Given the description of an element on the screen output the (x, y) to click on. 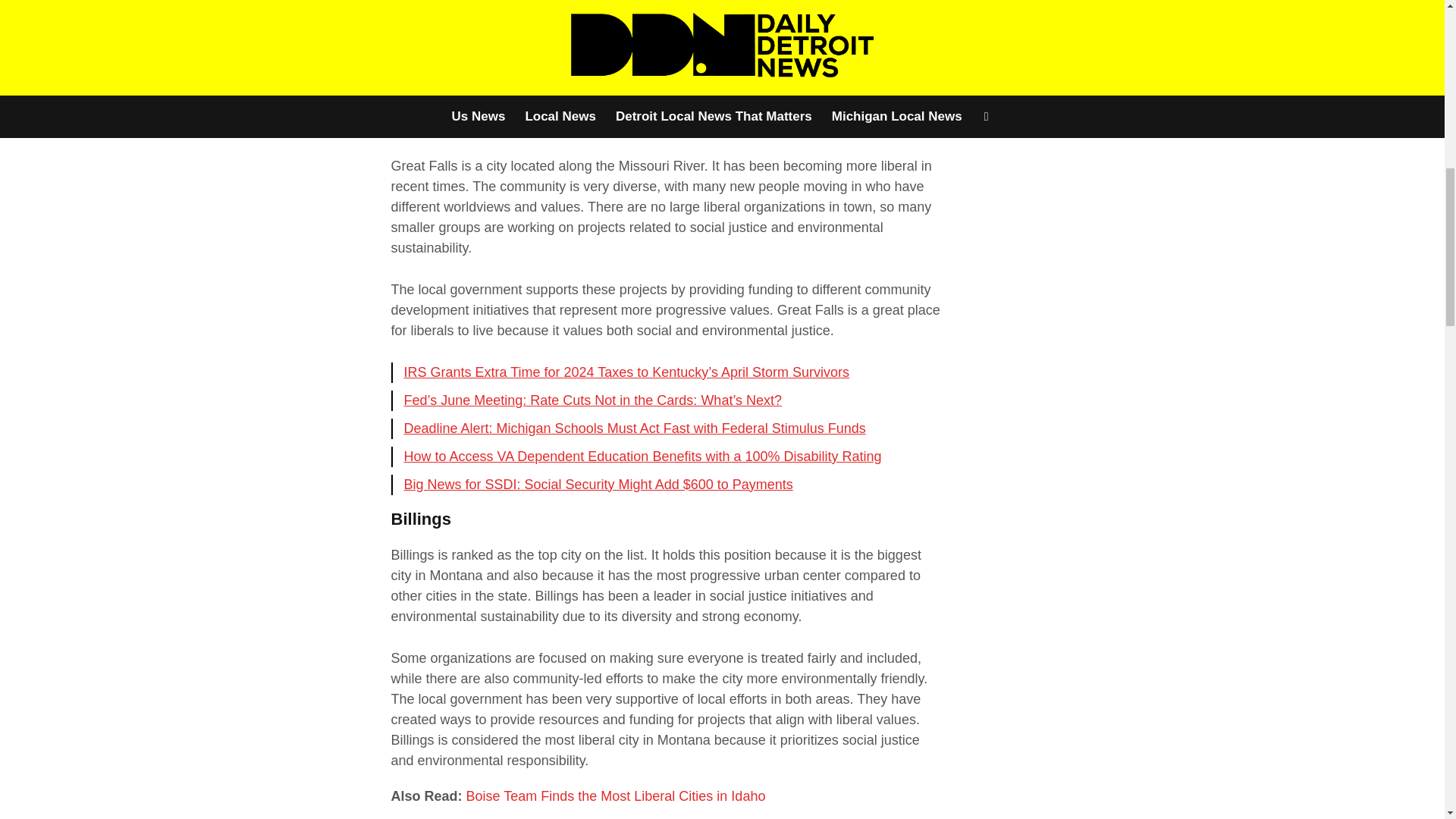
Twitter (271, 24)
Pinterest (341, 24)
Mix (306, 59)
Facebook (236, 24)
Reddit (271, 59)
Boise Team Finds the Most Liberal Cities in Idaho (615, 795)
Tumblr (341, 59)
linkedin (306, 24)
